Given the description of an element on the screen output the (x, y) to click on. 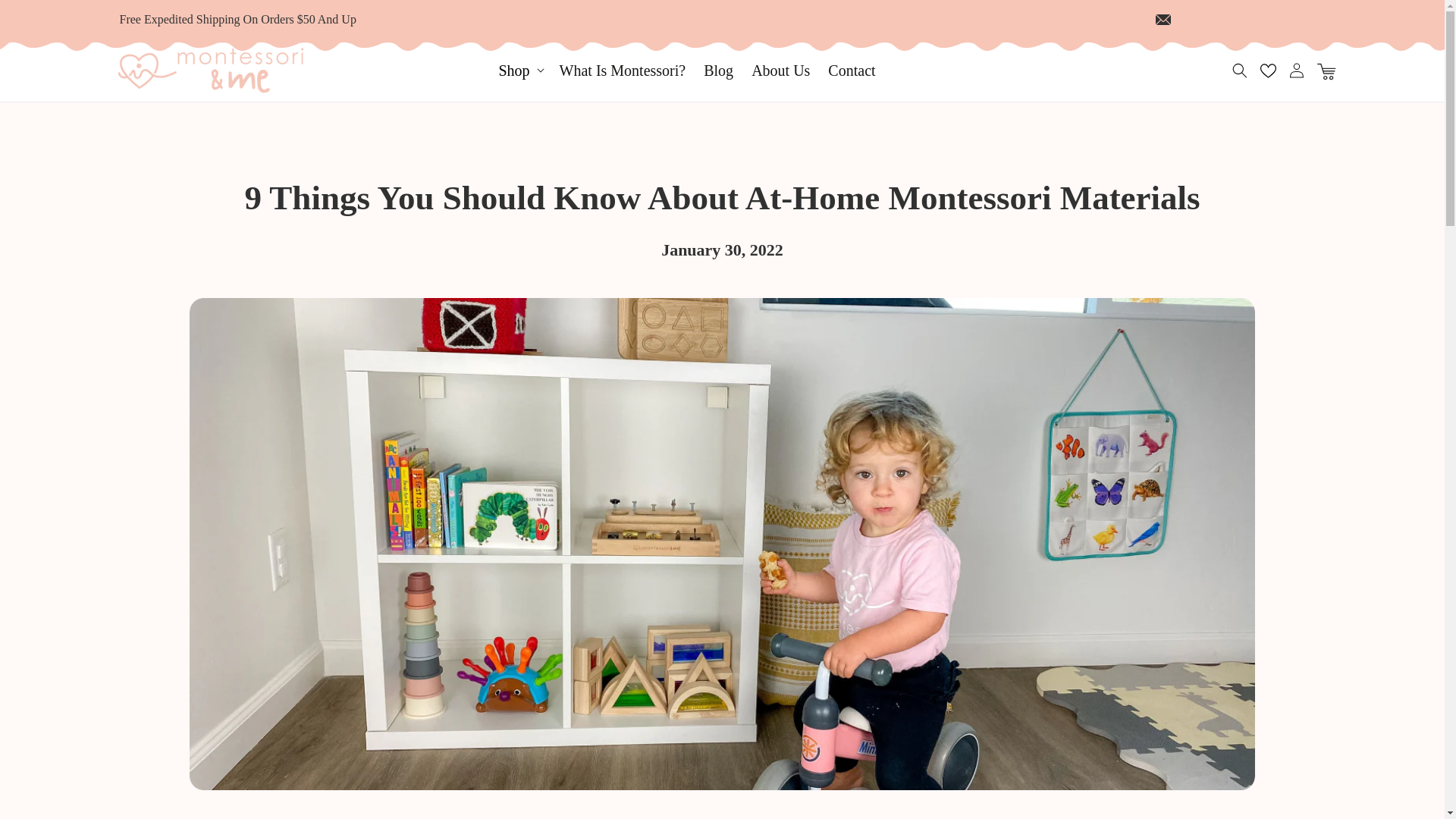
Shop (513, 70)
Skip To Content (45, 17)
Contact (850, 70)
Blog (718, 70)
Contact Us (1250, 19)
About Us (780, 70)
What Is Montessori? (622, 70)
